Given the description of an element on the screen output the (x, y) to click on. 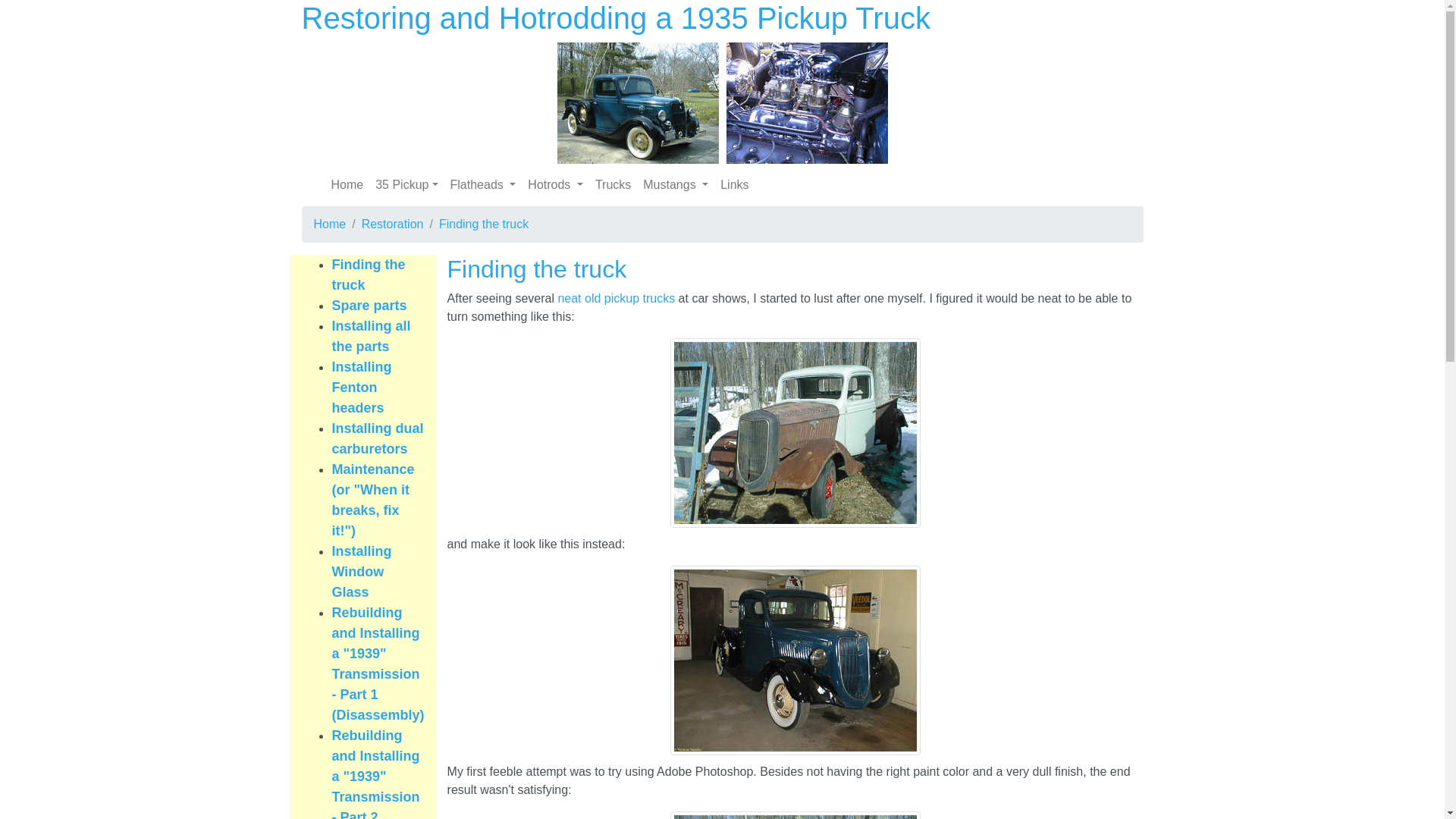
Installing all the parts Element type: text (371, 336)
35 Pickup Element type: text (406, 184)
Home Element type: text (329, 224)
neat old pickup trucks Element type: text (615, 297)
Installing Fenton headers Element type: text (362, 387)
Hotrods  Element type: text (555, 184)
Spare parts Element type: text (369, 305)
Installing Window Glass Element type: text (362, 571)
Finding the truck Element type: text (483, 224)
Installing dual carburetors Element type: text (377, 438)
Maintenance (or "When it breaks, fix it!") Element type: text (373, 499)
Trucks Element type: text (613, 184)
Flatheads  Element type: text (483, 184)
Finding the truck Element type: text (368, 274)
Home Element type: text (346, 184)
Mustangs  Element type: text (675, 184)
Links Element type: text (734, 184)
Mostly restored 1935 Ford pickup truck Element type: hover (795, 660)
Restoration Element type: text (392, 224)
